Given the description of an element on the screen output the (x, y) to click on. 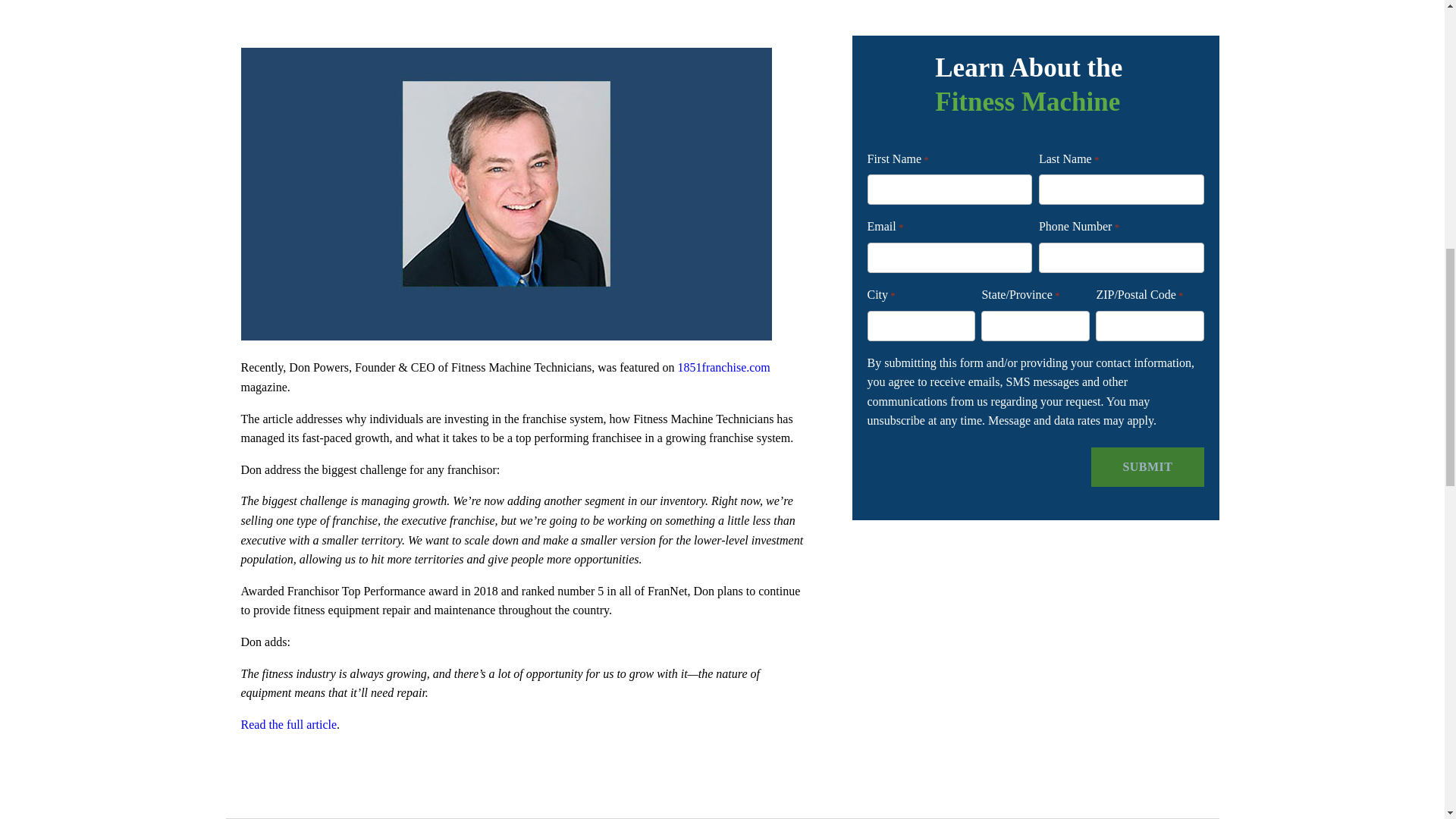
1851franchise.com (724, 367)
Submit (1147, 466)
Submit (1147, 466)
Read the full article (289, 724)
